Given the description of an element on the screen output the (x, y) to click on. 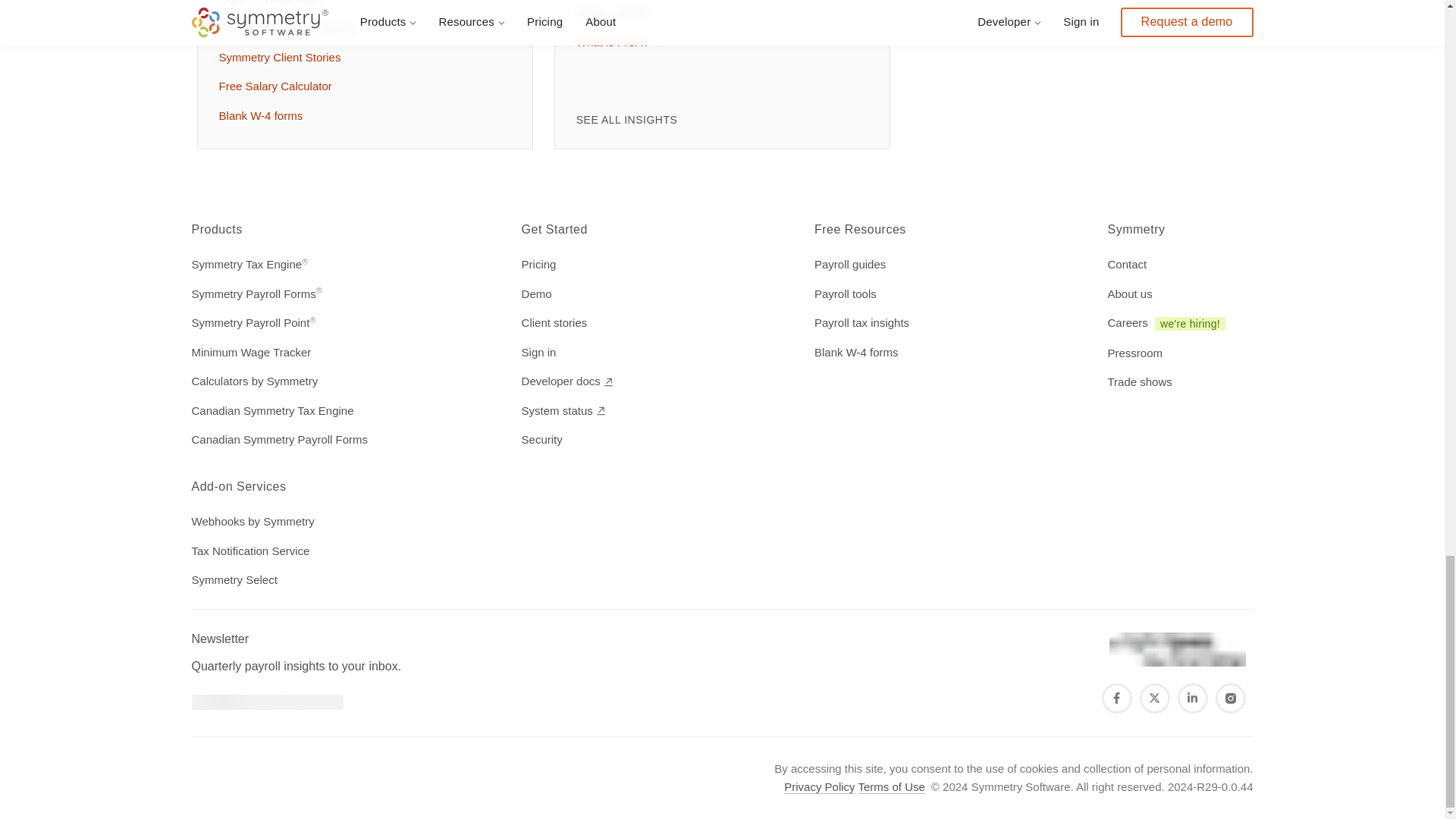
Guide to Local Taxes (361, 5)
Guide to Multi-state Payroll (361, 27)
Free Salary Calculator (361, 86)
What is FUTA? (718, 12)
Blank W-4 forms (361, 115)
Symmetry Client Stories (361, 57)
